Given the description of an element on the screen output the (x, y) to click on. 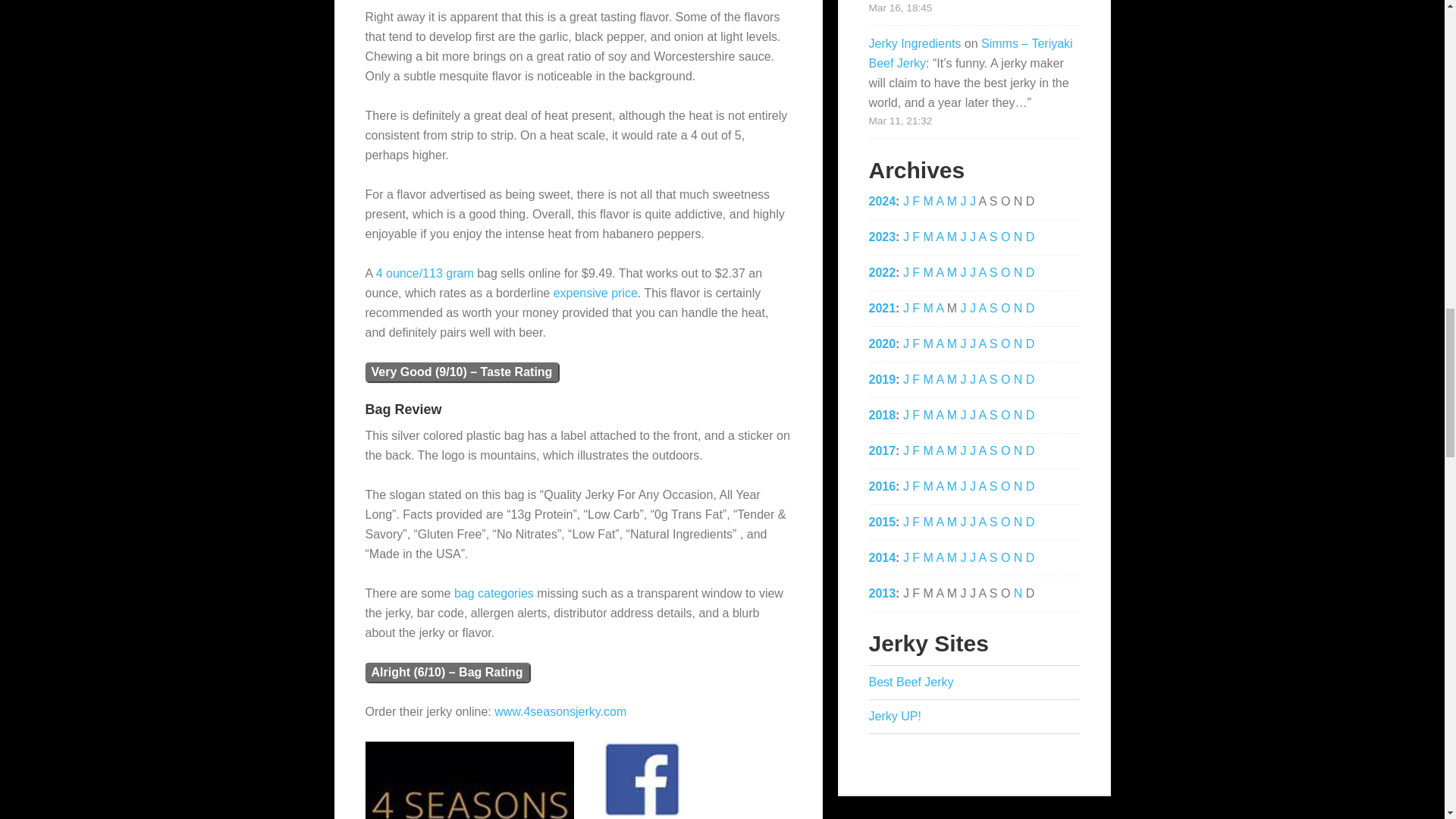
4 Seasons Jerky Facebook Page (641, 779)
4 Seasons Jerky (469, 780)
